Given the description of an element on the screen output the (x, y) to click on. 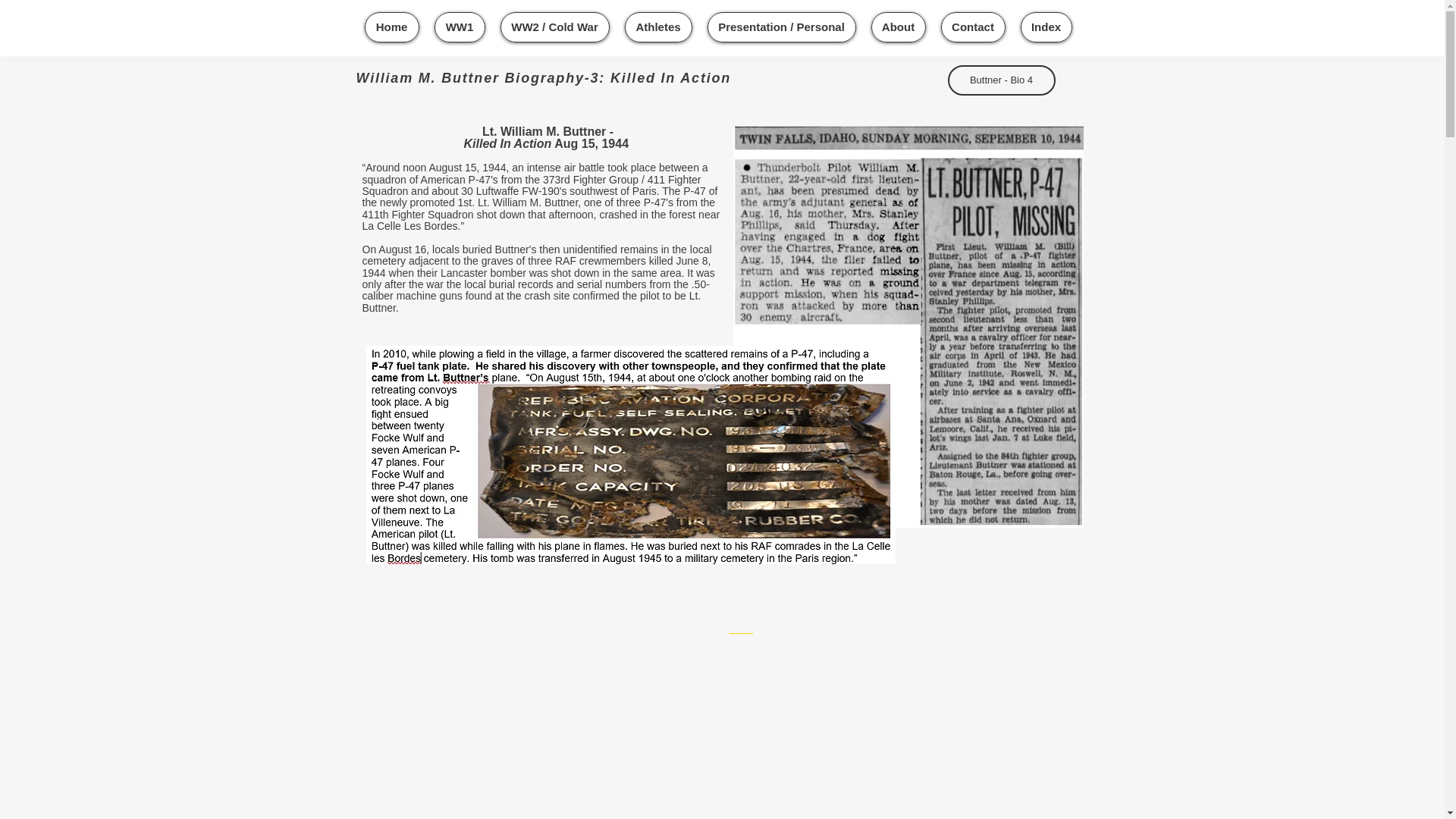
Athletes (658, 27)
Index (1045, 27)
WW1 (458, 27)
Contact (972, 27)
About (897, 27)
Home (391, 27)
Buttner - Bio 4 (1001, 80)
